Given the description of an element on the screen output the (x, y) to click on. 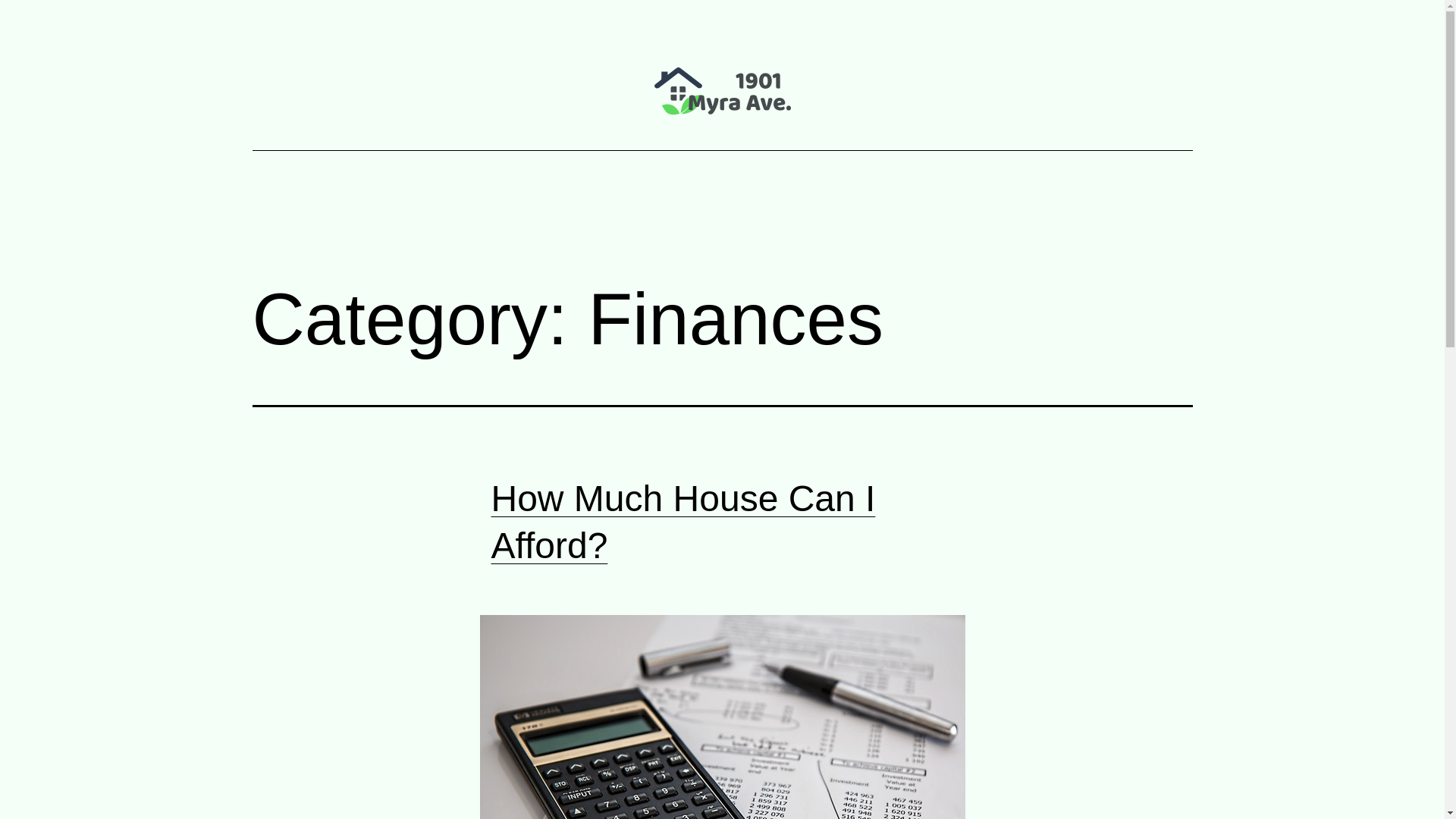
How Much House Can I Afford? Element type: text (683, 521)
